Given the description of an element on the screen output the (x, y) to click on. 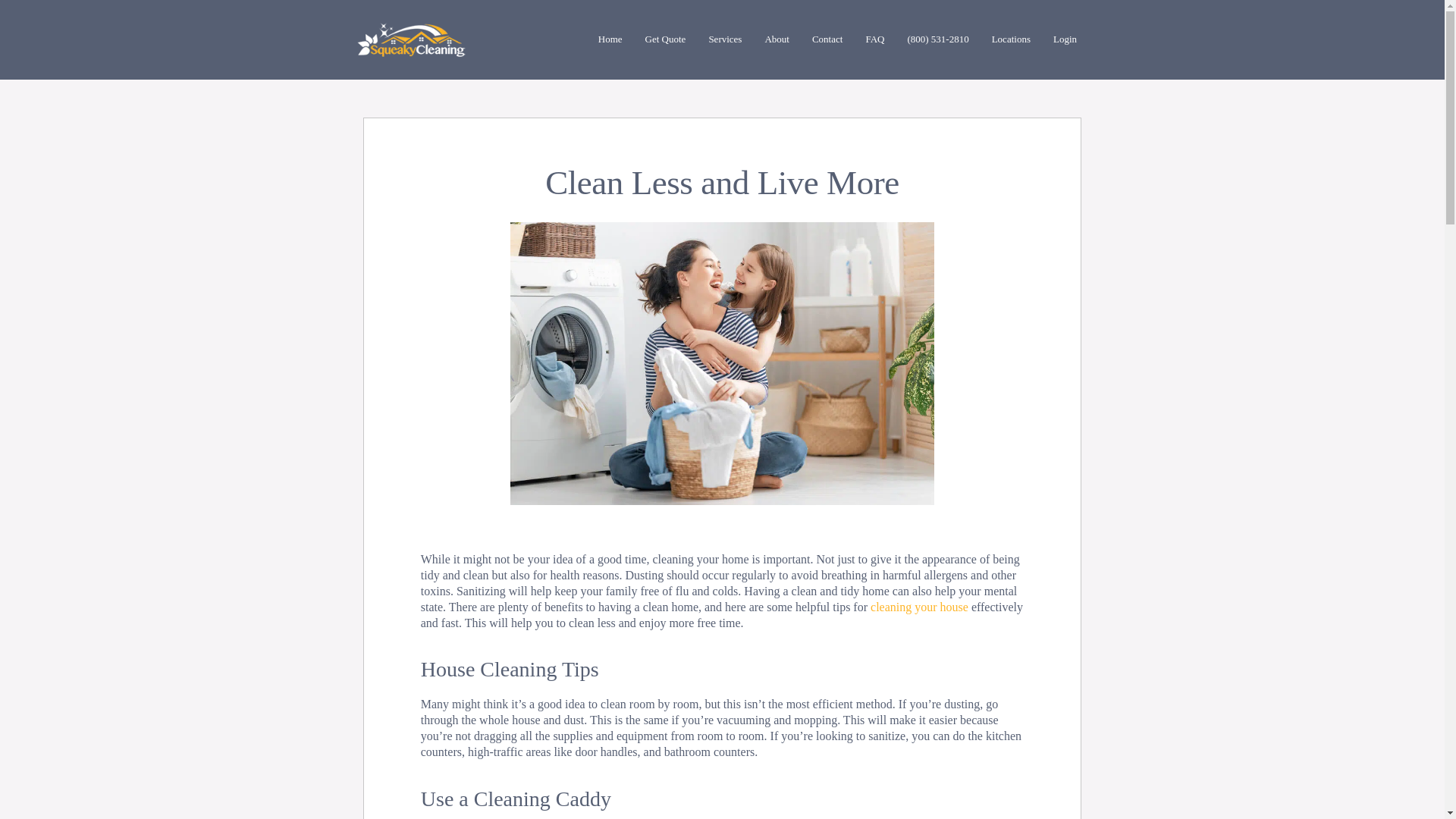
Contact (826, 39)
Home (609, 39)
Get Quote (665, 39)
Services (724, 39)
About (776, 39)
Locations (1010, 39)
